Given the description of an element on the screen output the (x, y) to click on. 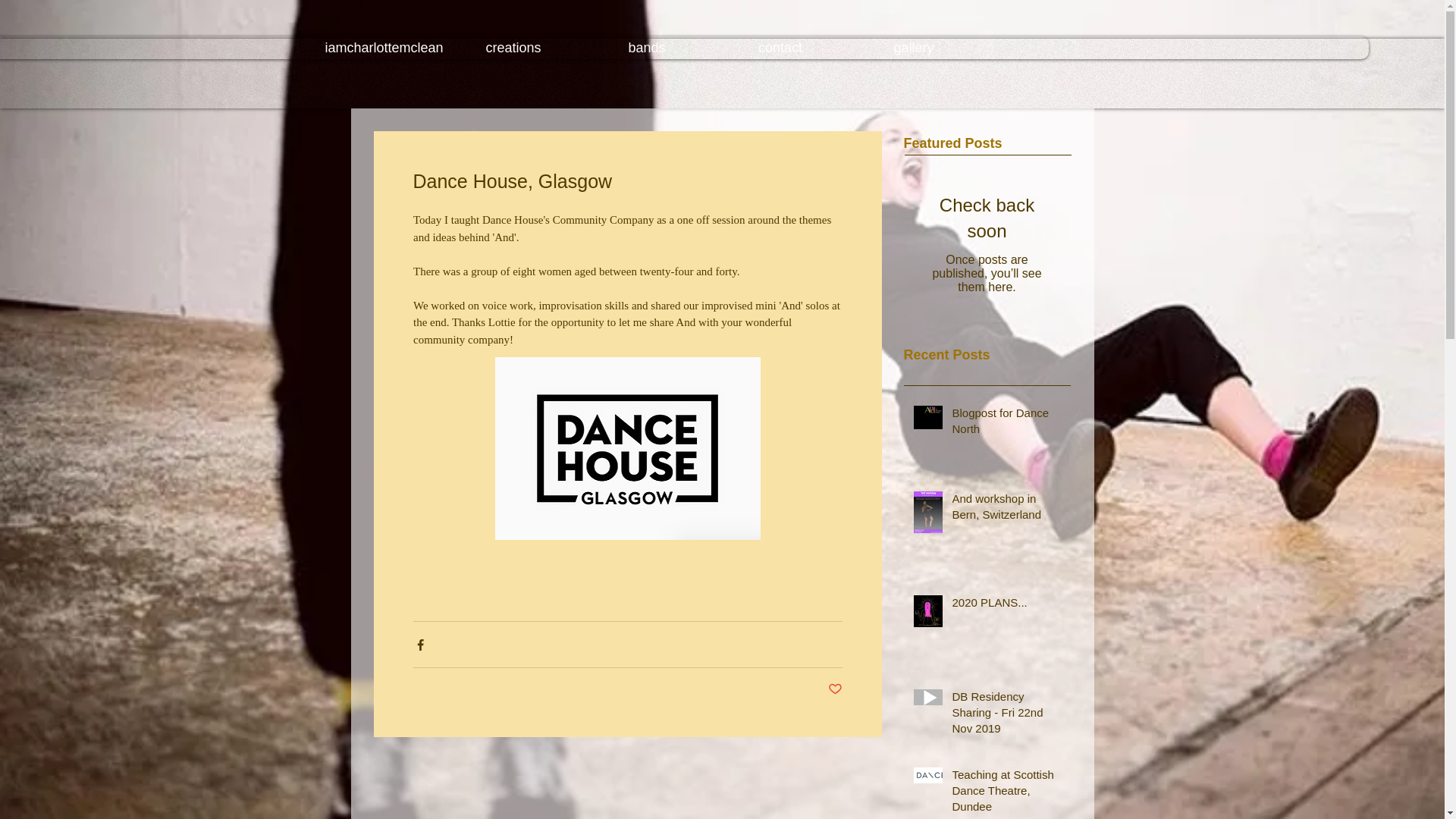
contact (779, 47)
creations (512, 47)
And workshop in Bern, Switzerland (1006, 509)
2020 PLANS... (1006, 605)
gallery (912, 47)
bands (646, 47)
iamcharlottemclean (379, 47)
Post not marked as liked (835, 689)
Teaching at Scottish Dance Theatre, Dundee (1006, 792)
DB Residency Sharing - Fri 22nd Nov 2019 (1006, 715)
